Given the description of an element on the screen output the (x, y) to click on. 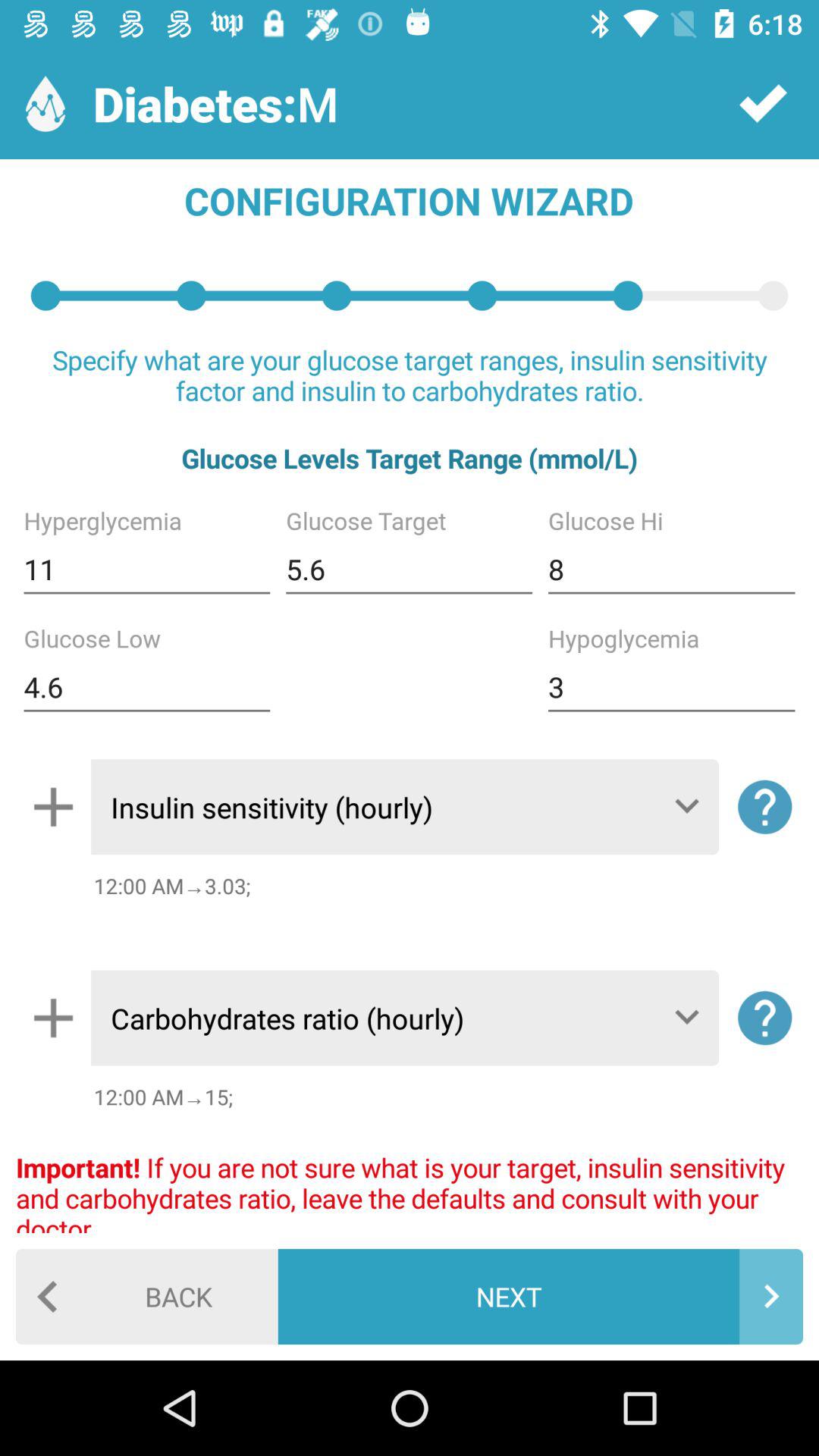
tap the next item (540, 1296)
